Given the description of an element on the screen output the (x, y) to click on. 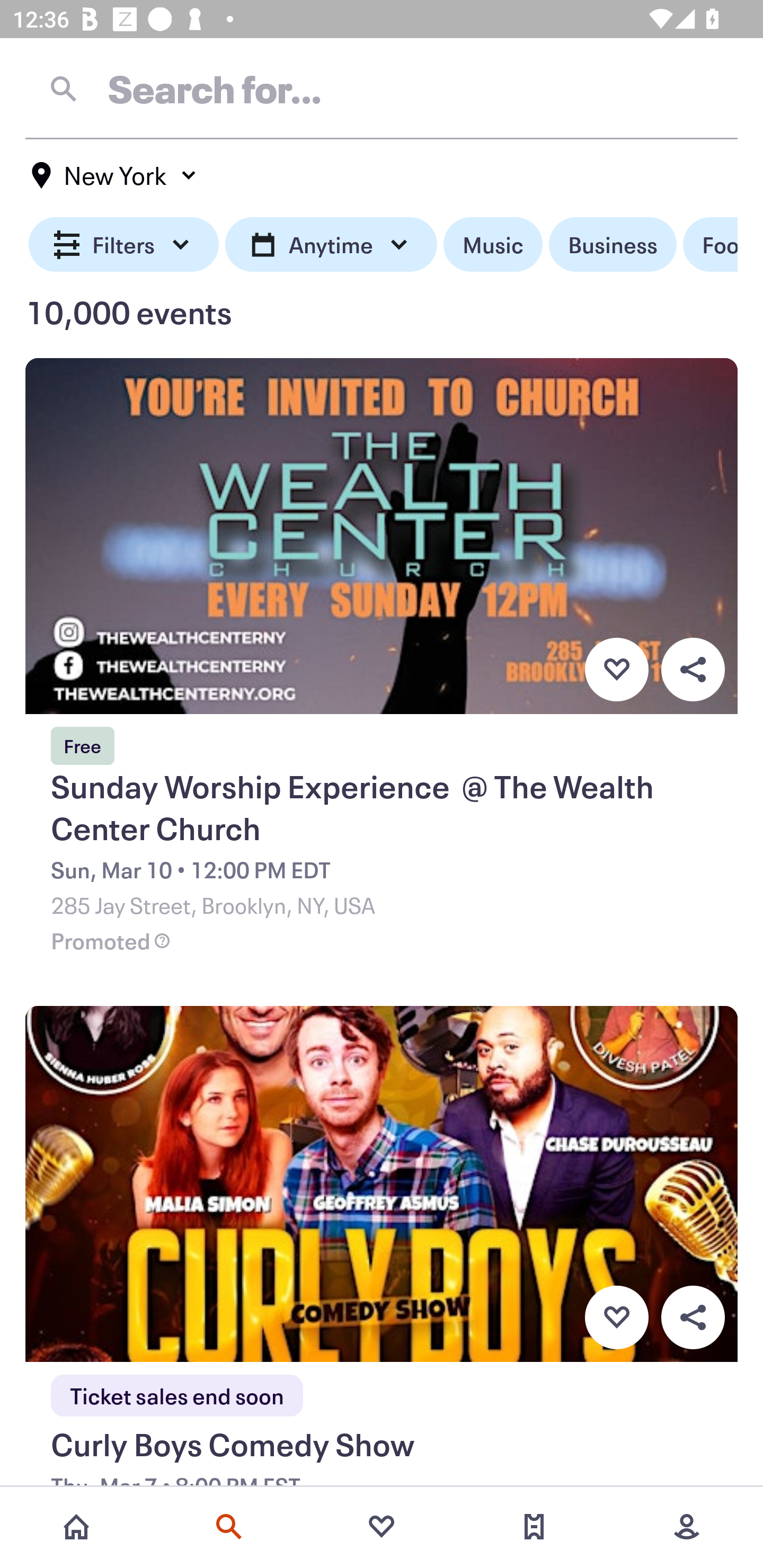
Search for… (381, 88)
New York (114, 175)
Filters (123, 244)
Anytime (331, 244)
Music (492, 244)
Business (612, 244)
Favorite button (616, 669)
Overflow menu button (692, 669)
Favorite button (616, 1317)
Overflow menu button (692, 1317)
Home (76, 1526)
Search events (228, 1526)
Favorites (381, 1526)
Tickets (533, 1526)
More (686, 1526)
